Given the description of an element on the screen output the (x, y) to click on. 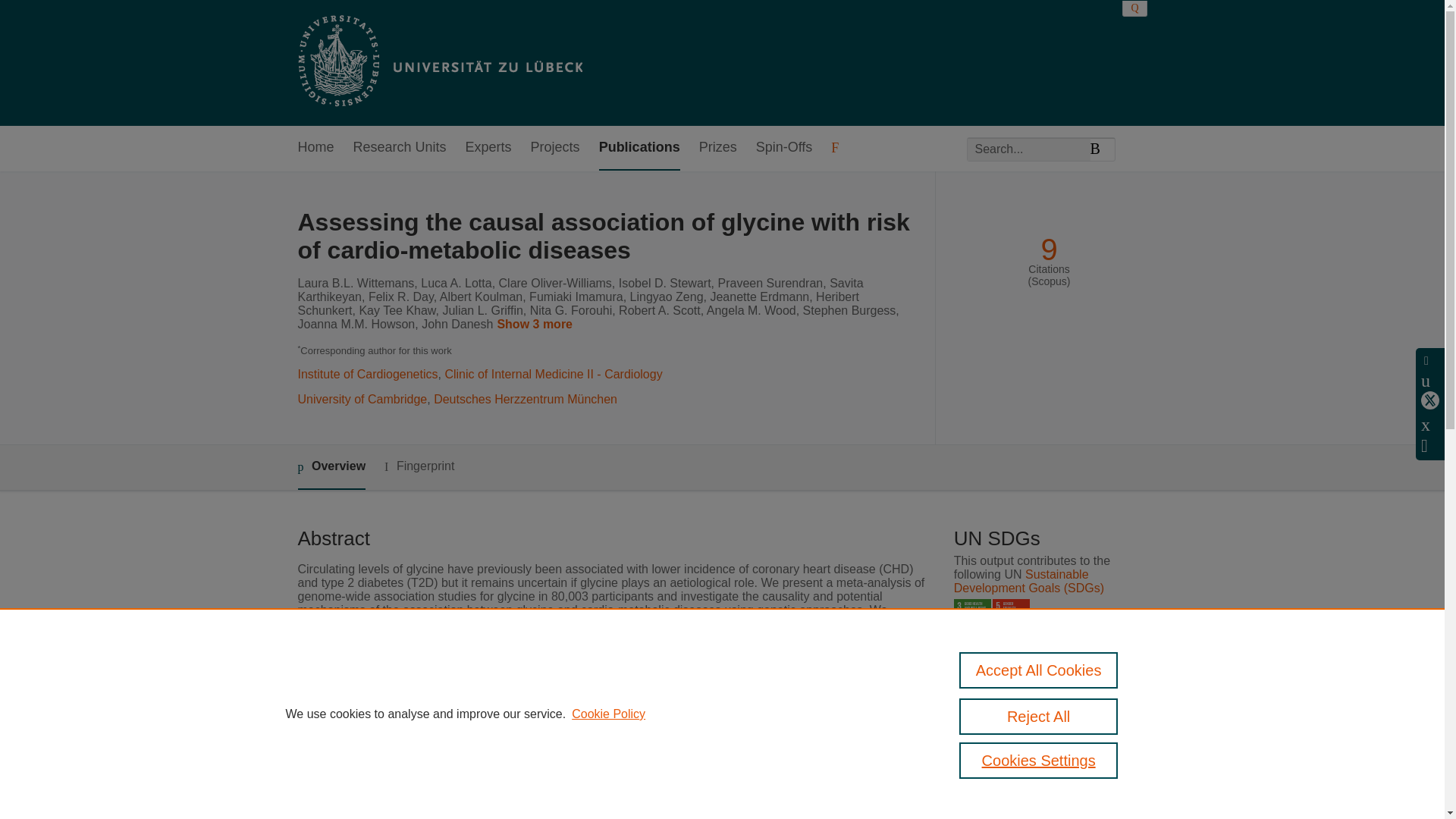
University of Luebeck Home (438, 62)
SDG 5 - Gender Equality (1010, 617)
Fingerprint (419, 466)
Nature Communications (574, 751)
Institute of Cardiogenetics (367, 373)
Publications (638, 148)
Overview (331, 467)
Experts (488, 148)
Spin-Offs (783, 148)
SDG 3 - Good Health and Well-being (972, 617)
Show 3 more (536, 324)
Link to publication in Scopus (1045, 741)
University of Cambridge (361, 399)
Clinic of Internal Medicine II - Cardiology (553, 373)
